Given the description of an element on the screen output the (x, y) to click on. 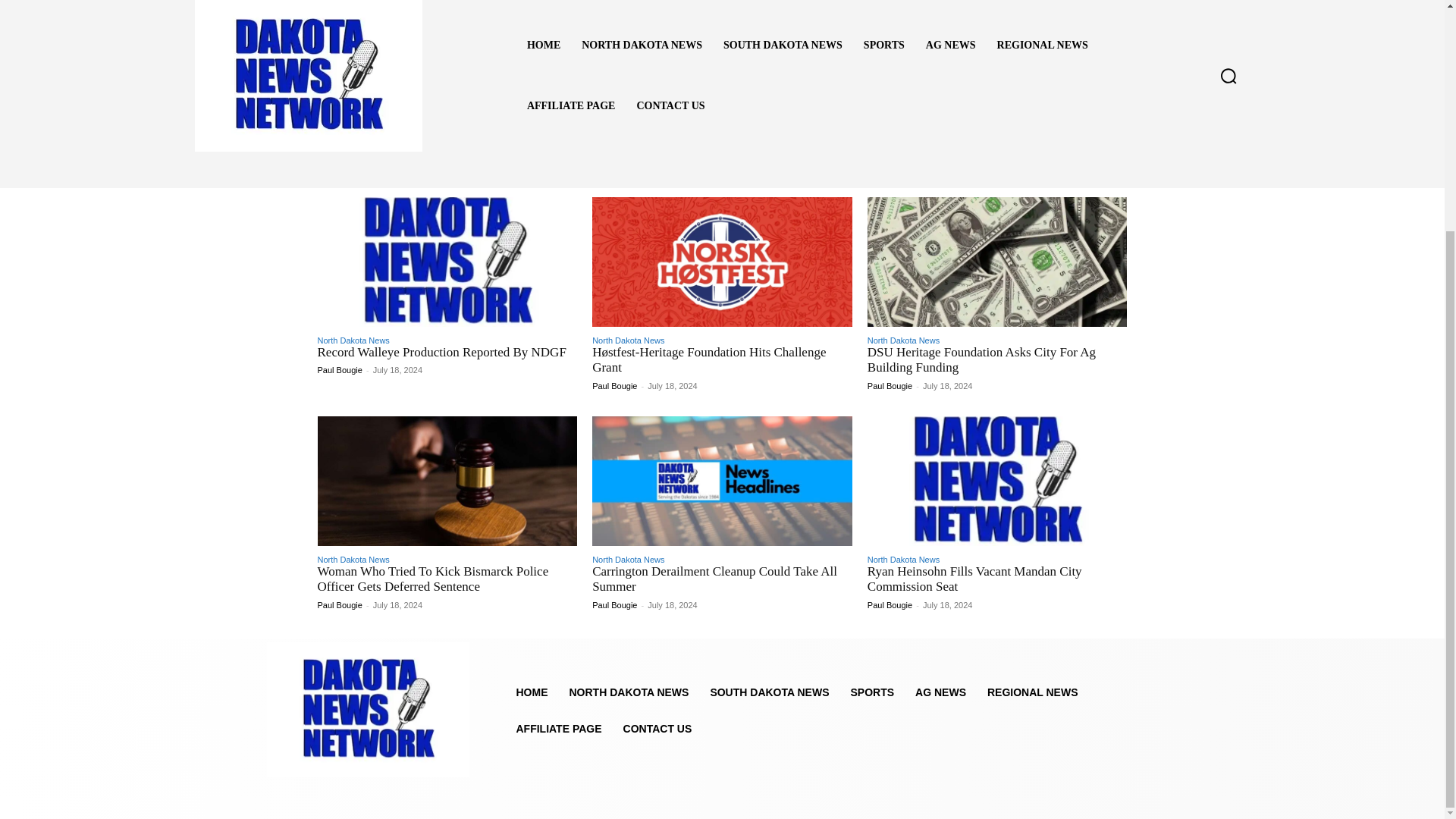
Paul Bougie (339, 369)
Carrington Derailment Cleanup Could Take All Summer (721, 481)
Paul Bougie (614, 385)
Paul Bougie (889, 385)
DSU Heritage Foundation Asks City For Ag Building Funding (981, 359)
Record Walleye Production Reported By NDGF (441, 351)
North Dakota News (352, 340)
North Dakota News (627, 340)
Record Walleye Production Reported By NDGF (441, 351)
DSU Heritage Foundation Asks City For Ag Building Funding (996, 261)
DSU Heritage Foundation Asks City For Ag Building Funding (981, 359)
Record Walleye Production Reported By NDGF (446, 261)
North Dakota News (903, 340)
